Given the description of an element on the screen output the (x, y) to click on. 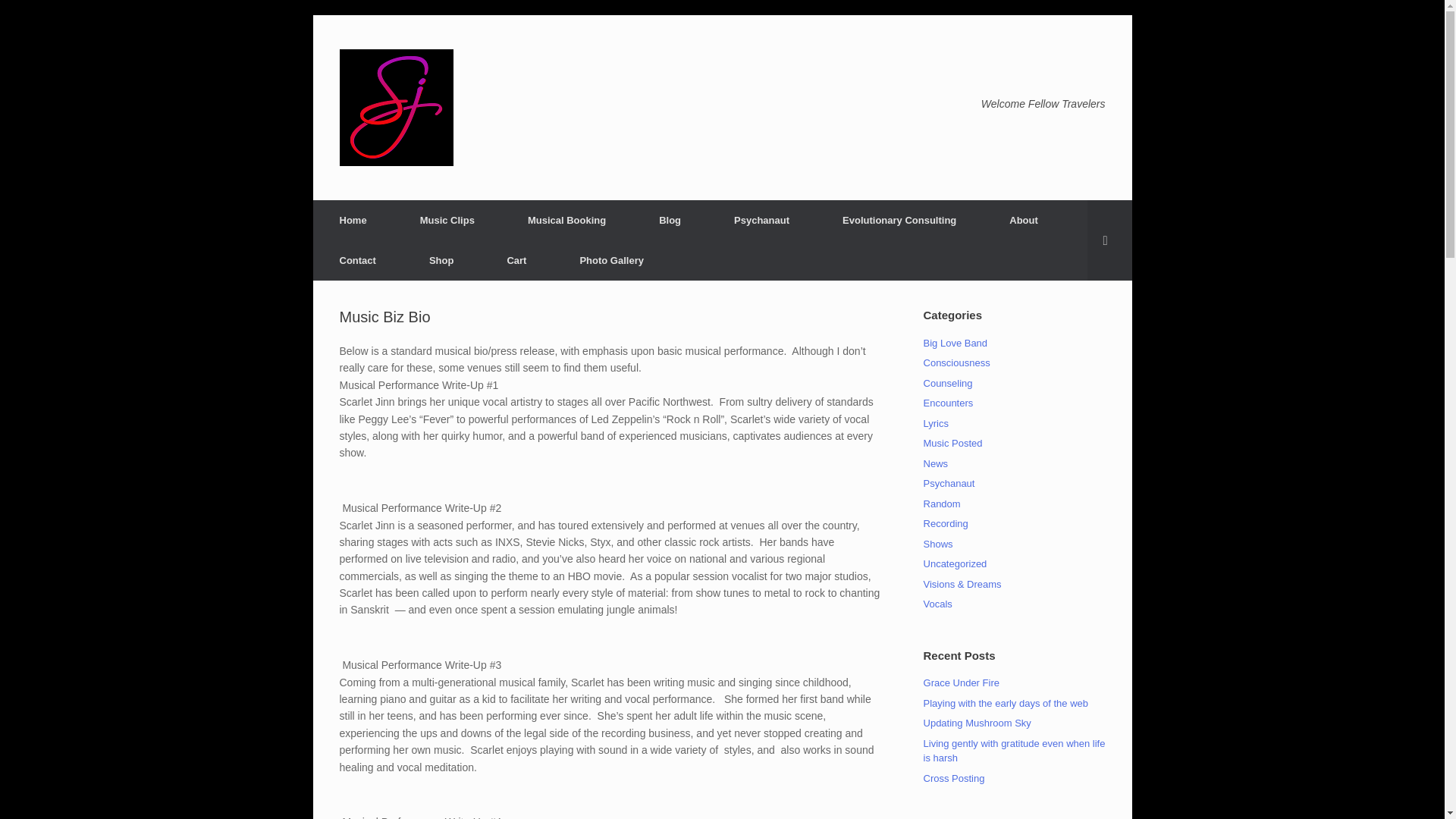
Counseling (947, 383)
Music Posted (952, 442)
Music Clips (446, 219)
Consciousness (956, 362)
Uncategorized (955, 563)
Shows (938, 543)
Lyrics (936, 422)
Photo Gallery (611, 260)
Blog (669, 219)
Psychanaut (949, 482)
